Given the description of an element on the screen output the (x, y) to click on. 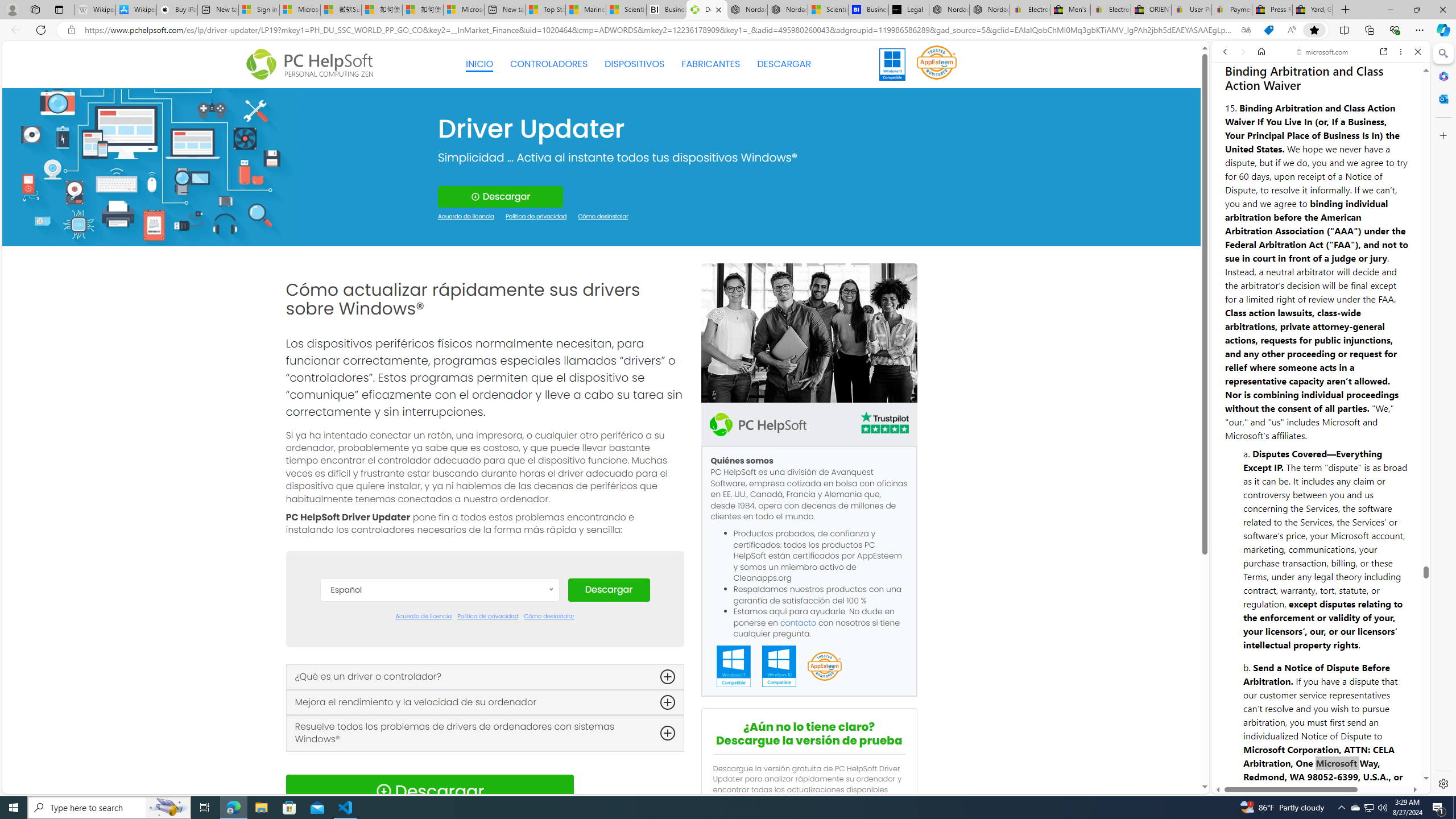
Italiano (439, 746)
TrustPilot (884, 424)
FABRICANTES (711, 64)
App Esteem (823, 666)
DISPOSITIVOS (634, 64)
Logo Personal Computing (313, 64)
